Given the description of an element on the screen output the (x, y) to click on. 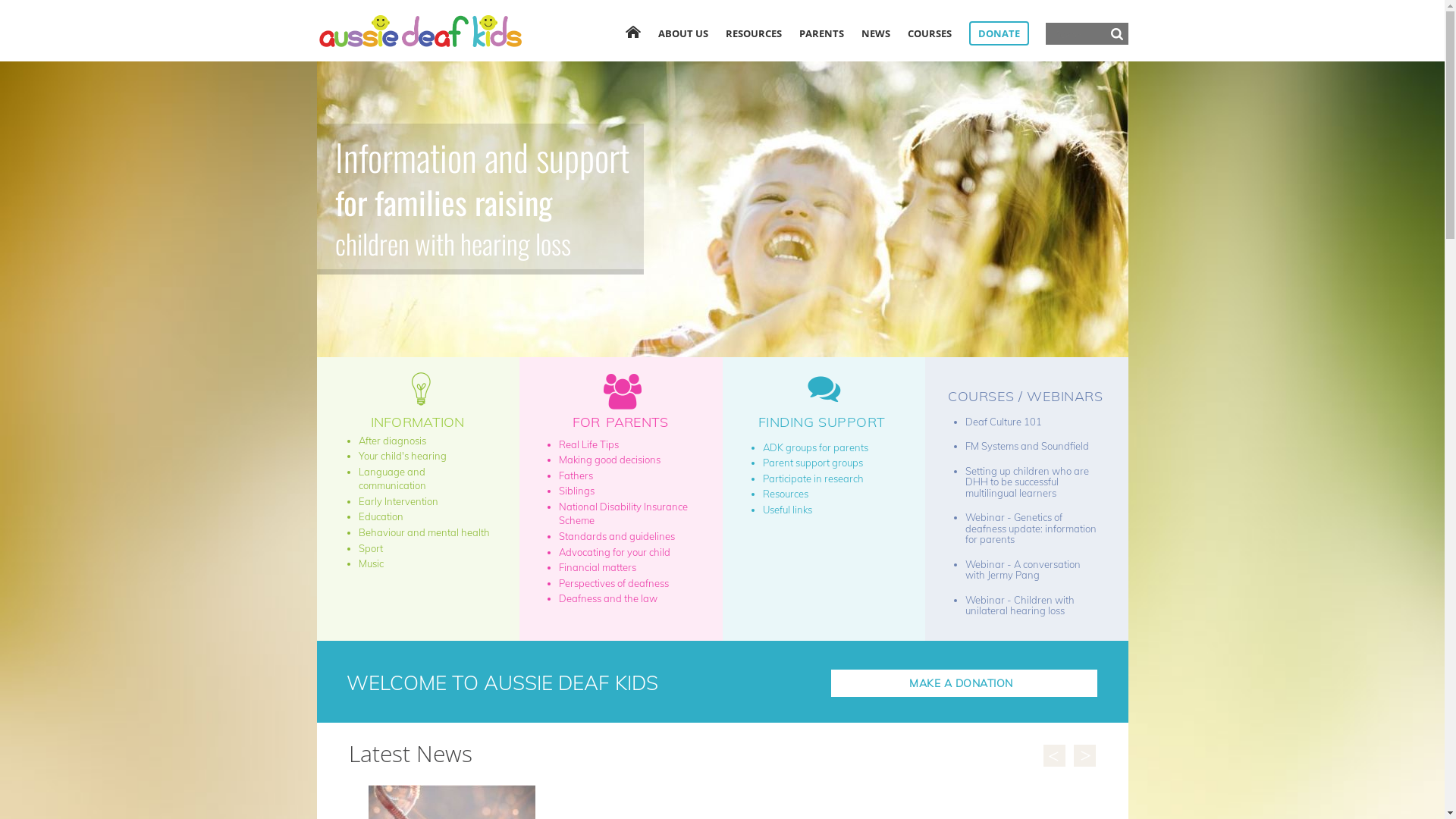
ADK groups for parents Element type: text (815, 447)
Fathers Element type: text (575, 475)
National Disability Insurance Scheme Element type: text (622, 513)
Advocating for your child Element type: text (614, 552)
Behaviour and mental health Element type: text (423, 532)
Sport Element type: text (369, 548)
Your child's hearing Element type: text (401, 455)
Webinar - A conversation with Jermy Pang Element type: text (1022, 569)
Language and communication Element type: text (391, 478)
Webinar - Children with unilateral hearing loss Element type: text (1019, 605)
Real Life Tips Element type: text (588, 444)
Perspectives of deafness Element type: text (613, 583)
Making good decisions Element type: text (609, 459)
Financial matters Element type: text (597, 567)
Standards and guidelines Element type: text (616, 536)
Resources Element type: text (785, 493)
Useful links Element type: text (787, 509)
Education Element type: text (379, 516)
Deafness and the law Element type: text (607, 598)
After diagnosis Element type: text (391, 440)
Participate in research Element type: text (812, 478)
Parent support groups Element type: text (812, 462)
MAKE A DONATION Element type: text (964, 682)
PARENTS Element type: text (821, 33)
Music Element type: text (369, 563)
ABOUT US Element type: text (683, 33)
RESOURCES Element type: text (752, 33)
DONATE Element type: text (999, 33)
Deaf Culture 101 Element type: text (1003, 421)
COURSES Element type: text (928, 33)
Siblings Element type: text (576, 490)
NEWS Element type: text (875, 33)
FM Systems and Soundfield Element type: text (1026, 445)
Early Intervention Element type: text (397, 501)
HOME Element type: text (632, 31)
